Given the description of an element on the screen output the (x, y) to click on. 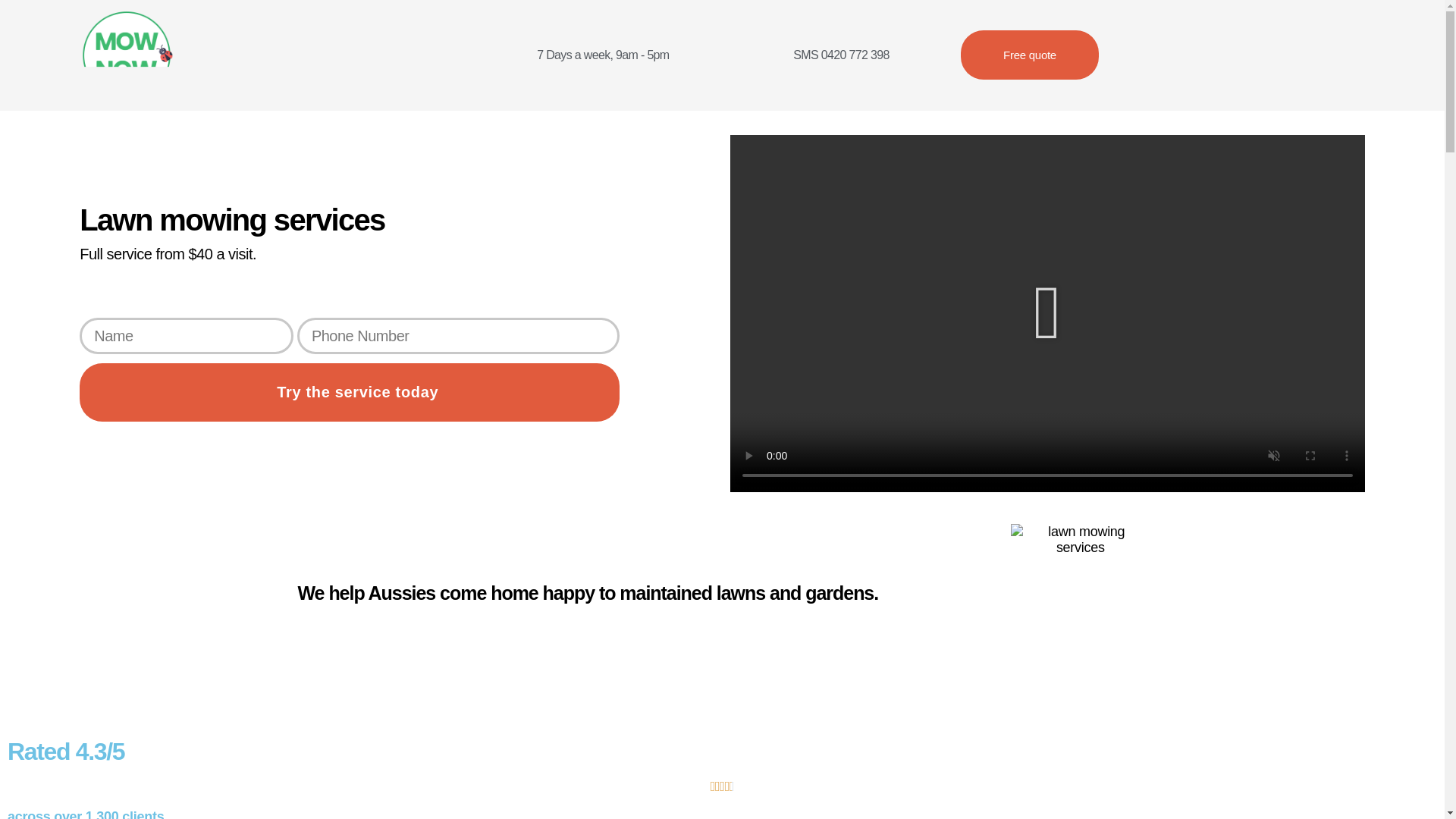
Free quote (1029, 54)
SMS 0420 772 398 (840, 54)
Try the service today (350, 392)
